Given the description of an element on the screen output the (x, y) to click on. 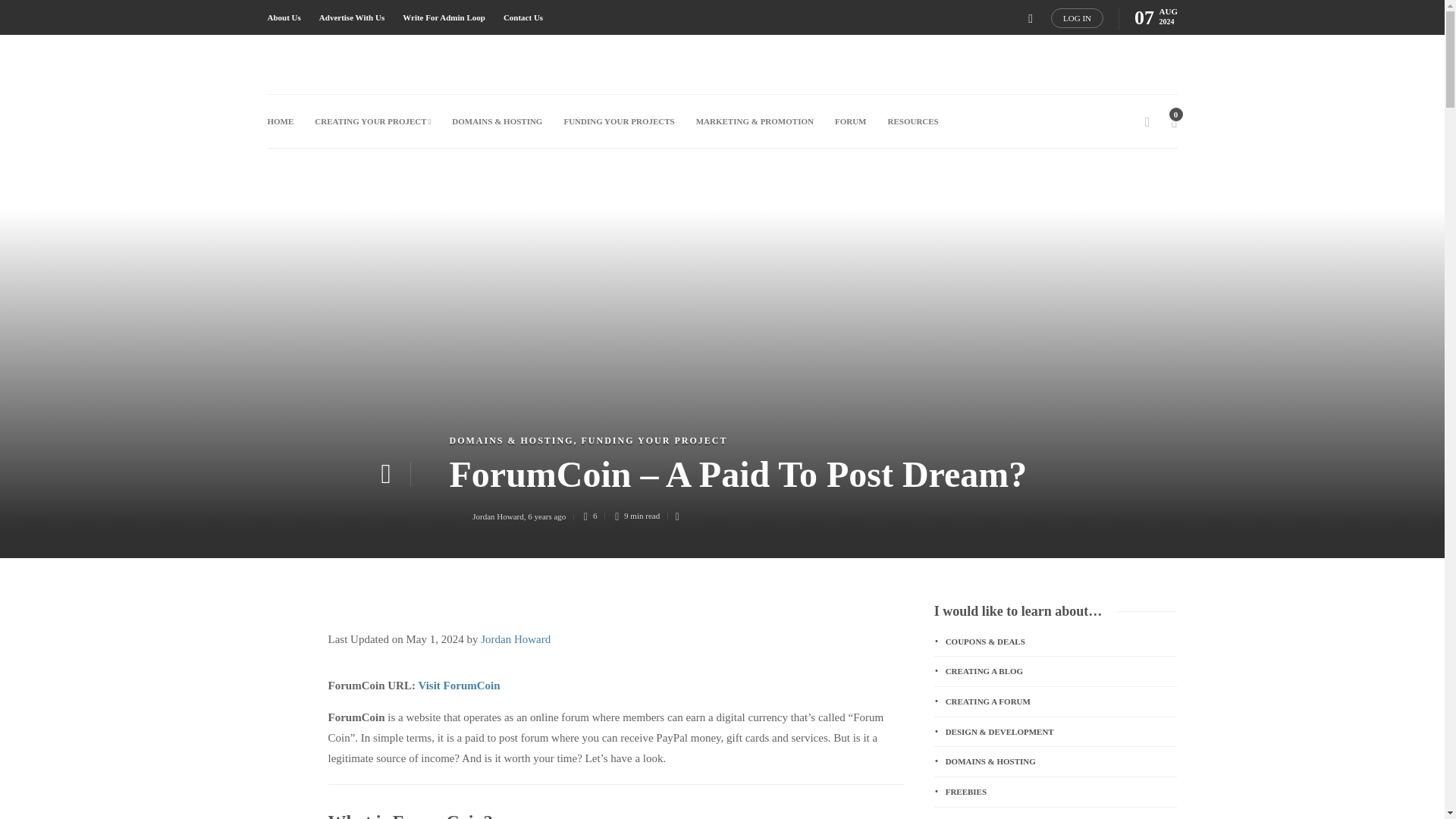
Write For Admin Loop (443, 17)
About Us (282, 17)
LOG IN (1077, 17)
ForumCoin (458, 685)
FUNDING YOUR PROJECTS (618, 121)
CREATING YOUR PROJECT (372, 121)
Contact Us (523, 17)
Advertise With Us (351, 17)
